Given the description of an element on the screen output the (x, y) to click on. 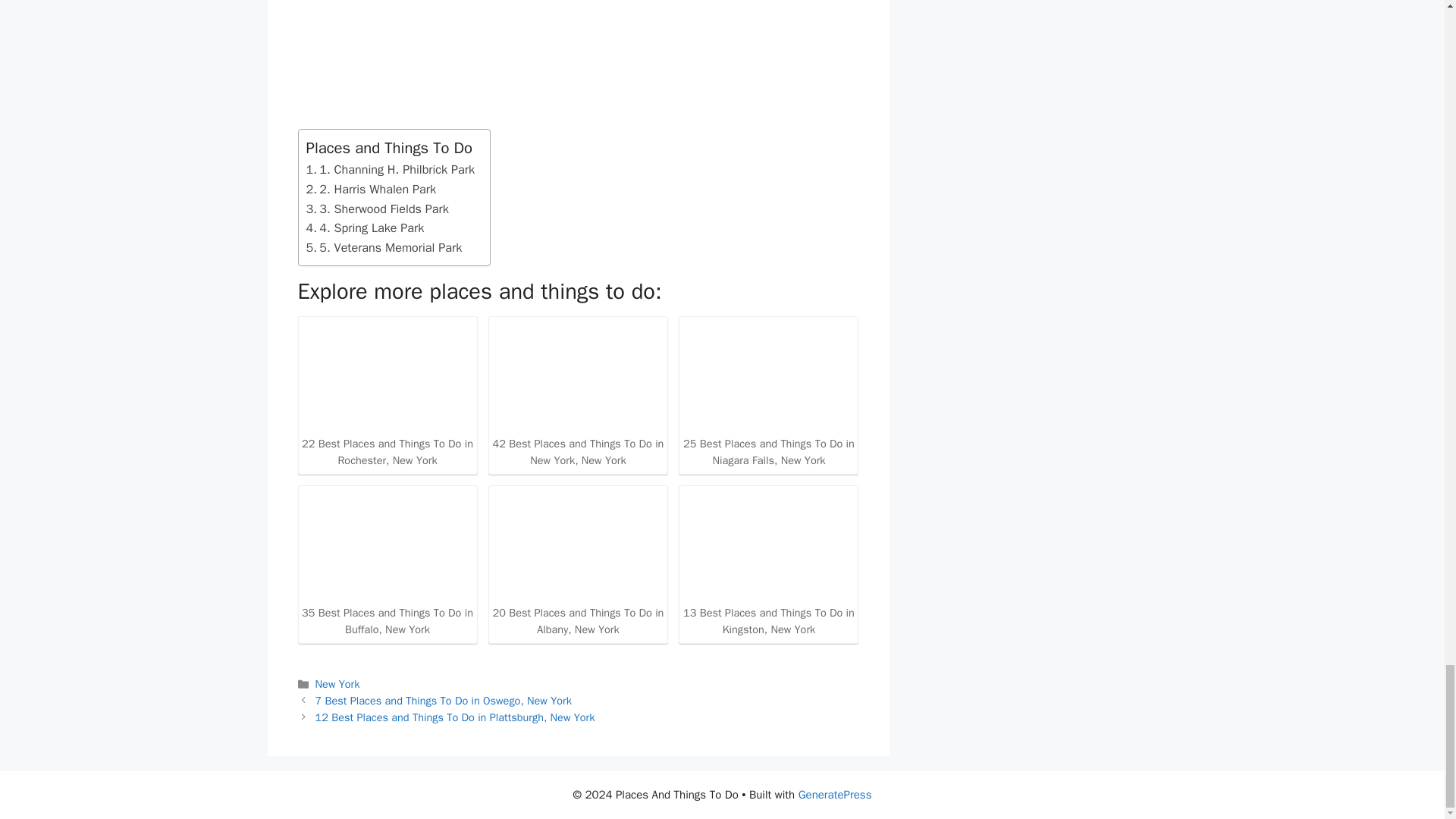
42 Best Places and Things To Do in New York, New York (578, 400)
20 Best Places and Things To Do in Albany, New York (577, 544)
42 Best Places and Things To Do in New York, New York (577, 376)
7 Best Places and Things To Do in Oswego, New York (443, 700)
GeneratePress (834, 794)
22 Best Places and Things To Do in Rochester, New York (386, 404)
4. Spring Lake Park (365, 228)
4. Spring Lake Park (365, 228)
20 Best Places and Things To Do in Albany, New York (578, 569)
22 Best Places and Things To Do in Rochester, New York (387, 376)
